Given the description of an element on the screen output the (x, y) to click on. 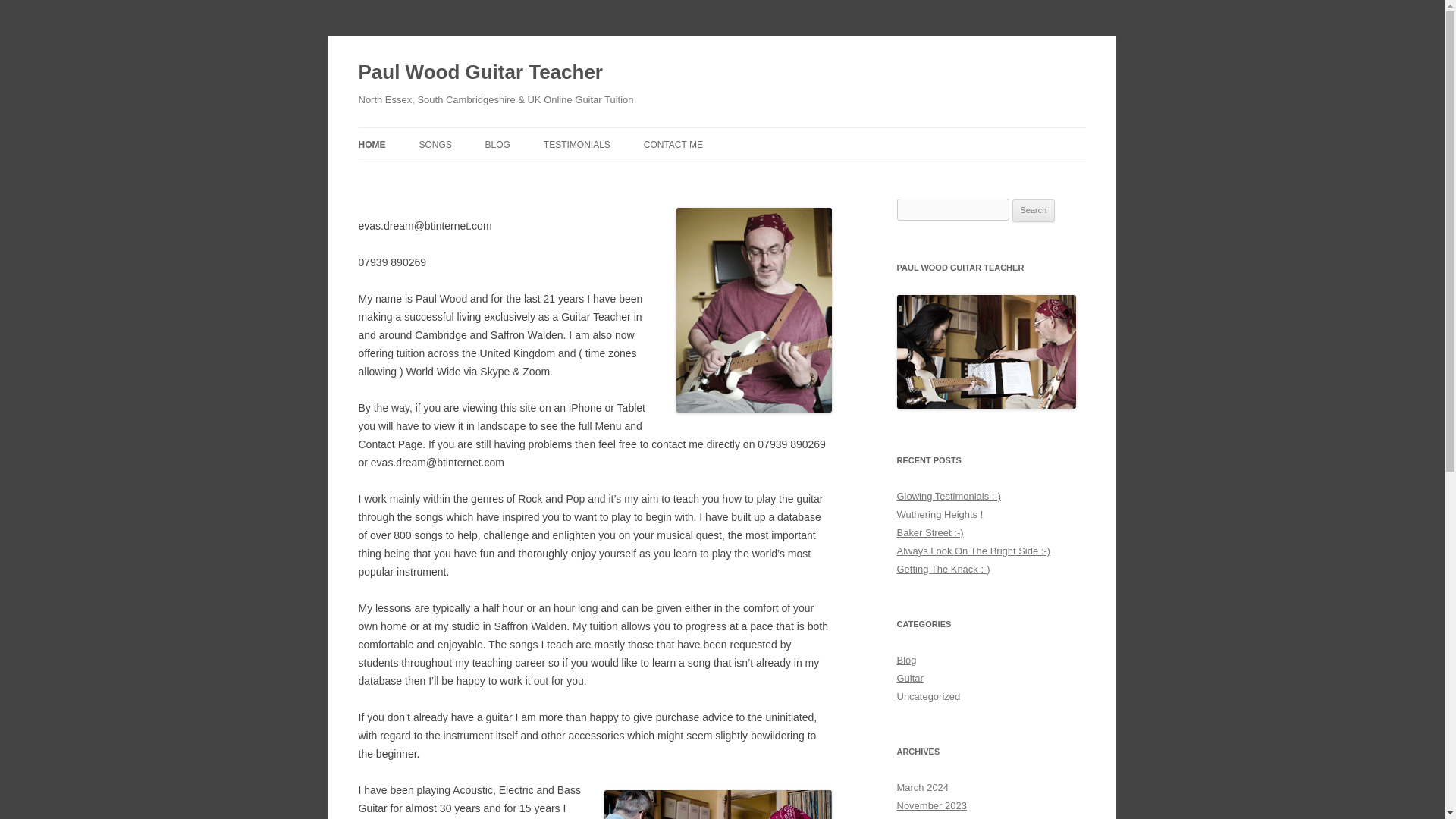
March 2024 (922, 787)
SONGS (435, 144)
November 2023 (931, 805)
Search (1033, 210)
Paul Wood Guitar Teacher (480, 72)
TESTIMONIALS (576, 144)
Guitar (909, 677)
Blog (905, 659)
Paul Wood Guitar Teacher (480, 72)
